Given the description of an element on the screen output the (x, y) to click on. 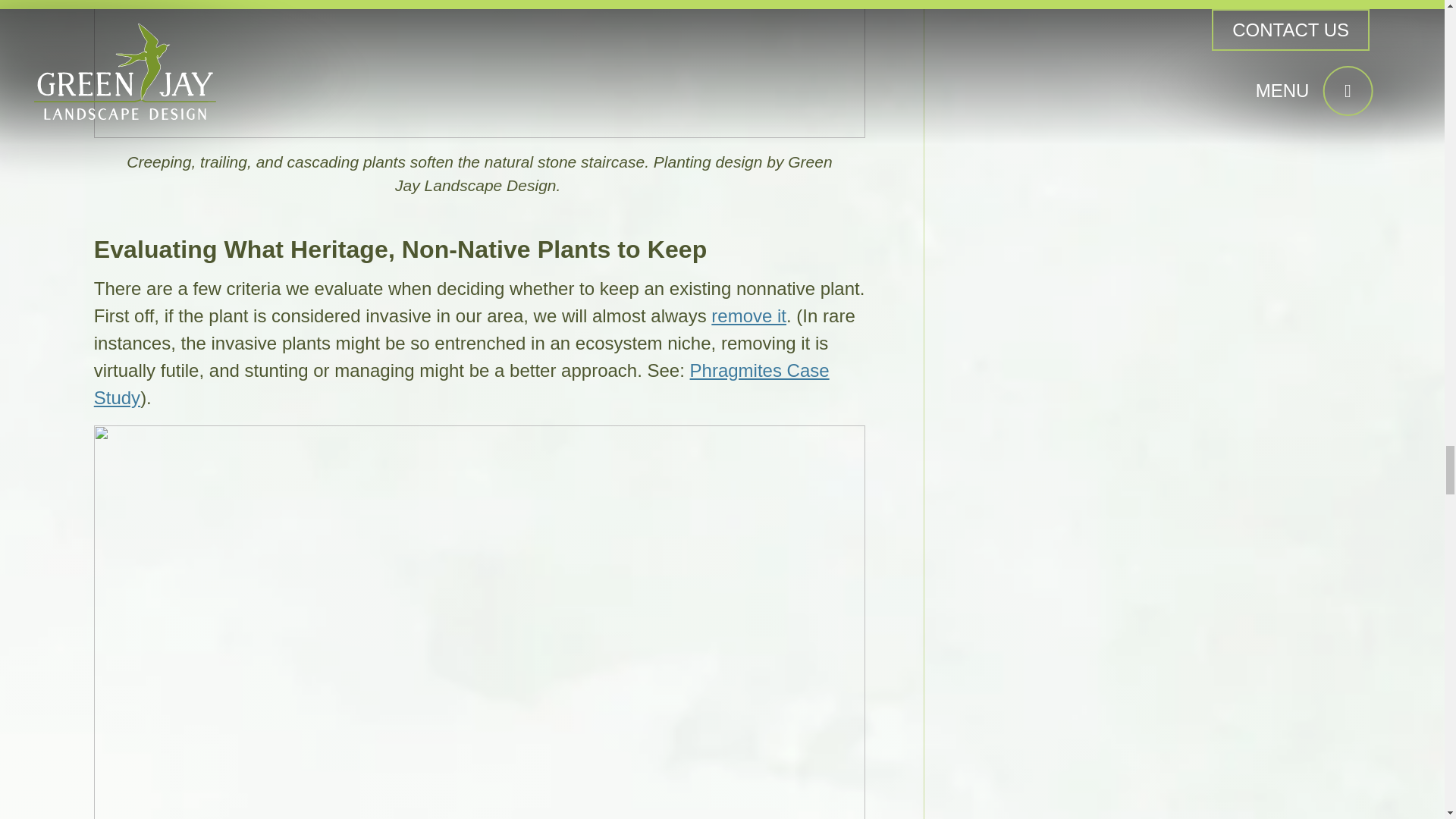
remove it (748, 314)
Phragmites Case Study (461, 383)
